Given the description of an element on the screen output the (x, y) to click on. 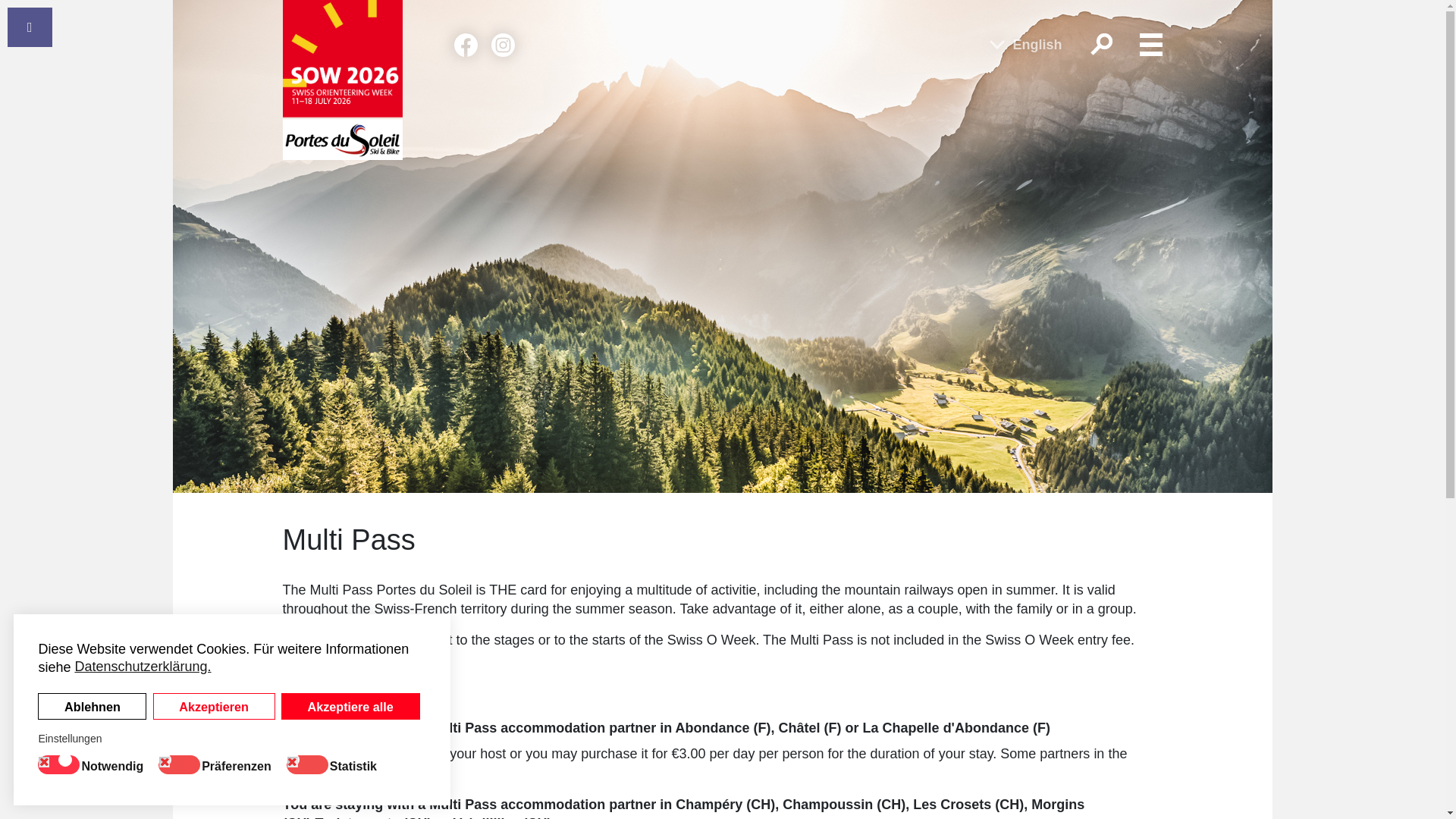
Statistik (355, 764)
English (1025, 45)
Notwendig (114, 764)
Akzeptiere alle (350, 705)
Facebook (464, 44)
Instagram (503, 44)
Akzeptieren (213, 705)
Ablehnen (92, 705)
